Given the description of an element on the screen output the (x, y) to click on. 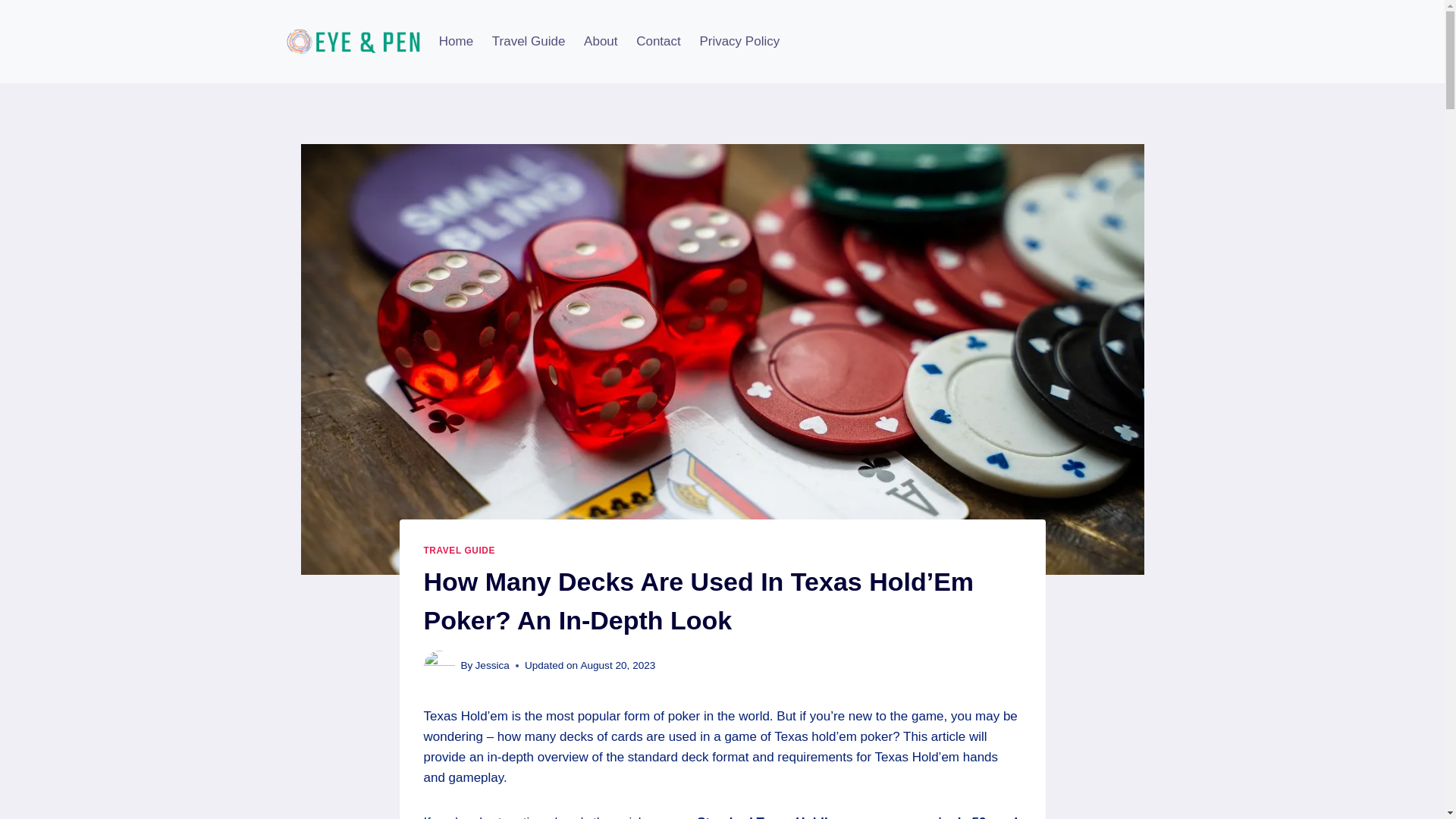
Home (455, 41)
Contact (658, 41)
TRAVEL GUIDE (459, 550)
About (601, 41)
Jessica (492, 665)
Travel Guide (527, 41)
Privacy Policy (739, 41)
